Given the description of an element on the screen output the (x, y) to click on. 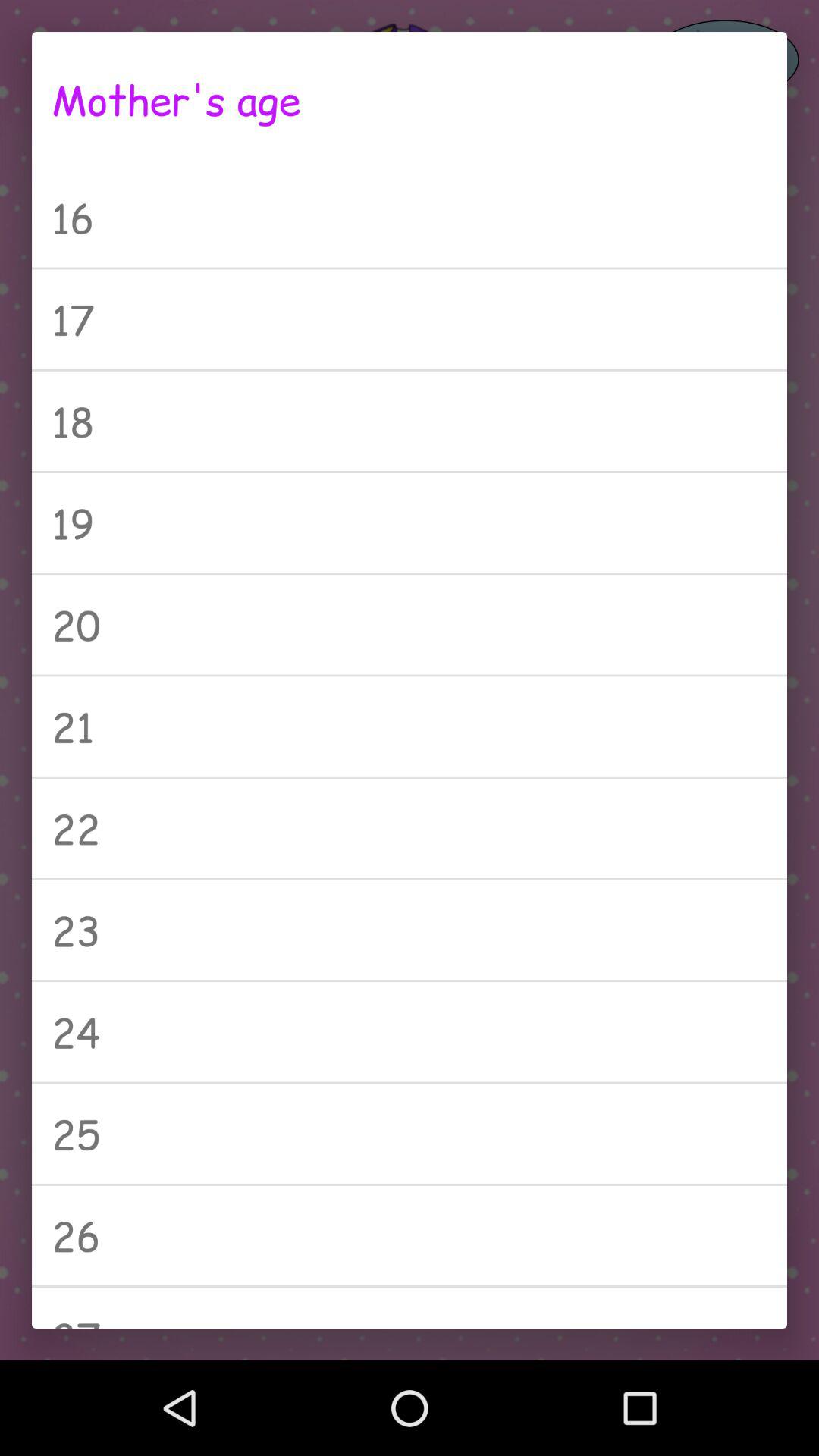
jump to 16 item (409, 217)
